Given the description of an element on the screen output the (x, y) to click on. 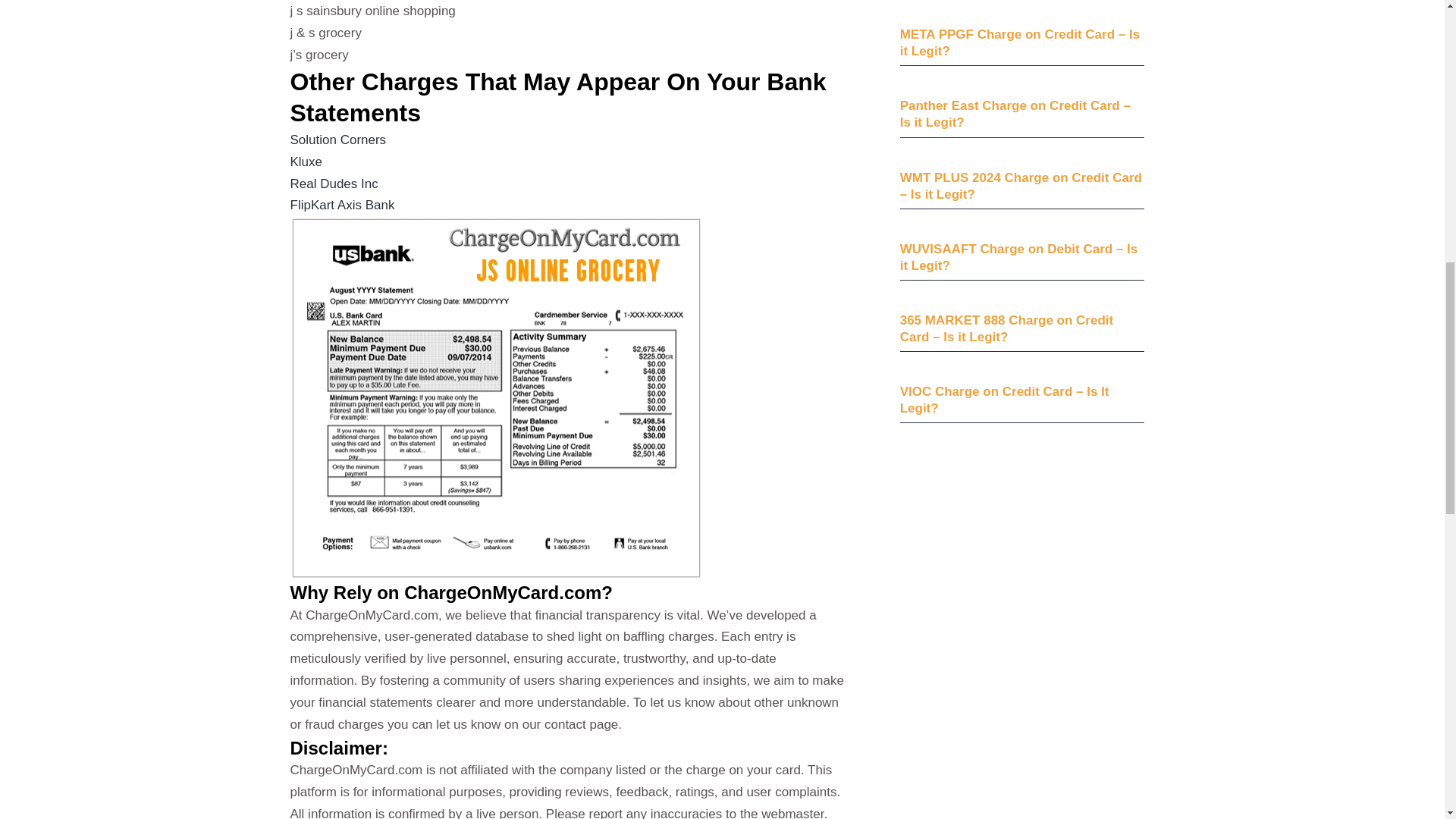
Kluxe (305, 161)
FlipKart Axis Bank (341, 205)
Real Dudes Inc (333, 183)
Solution Corners (337, 139)
